Given the description of an element on the screen output the (x, y) to click on. 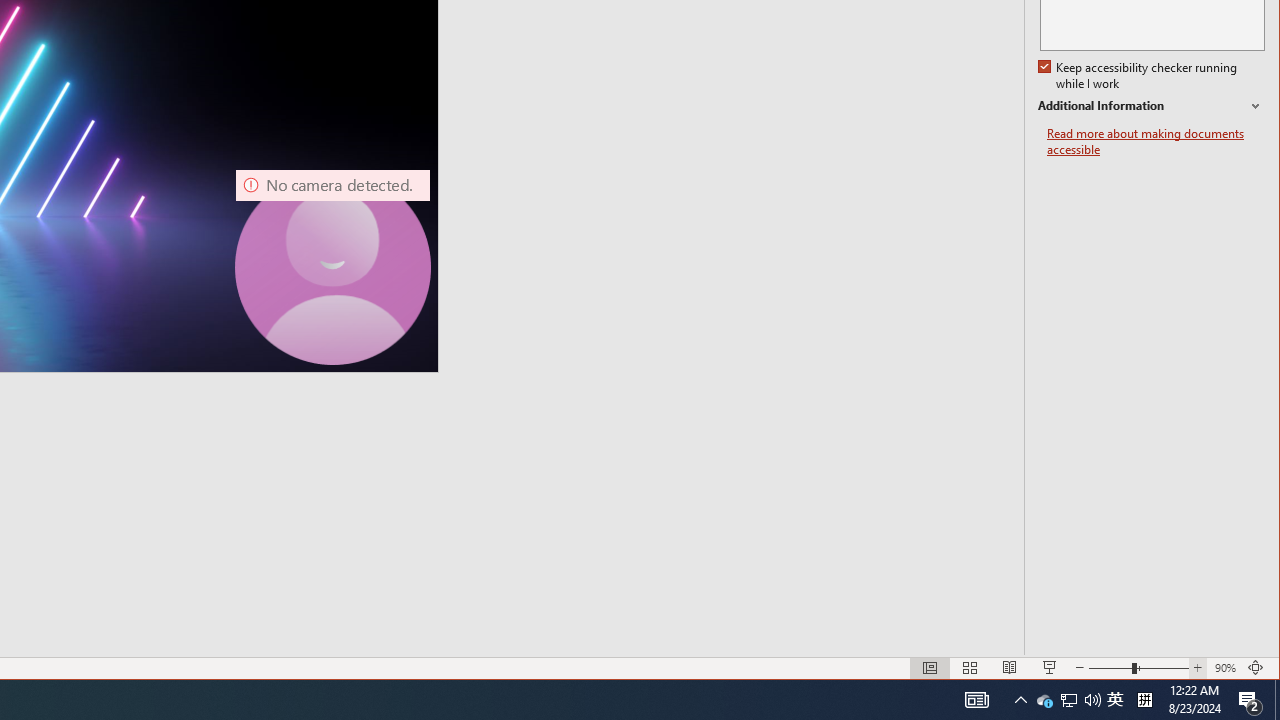
Zoom 90% (1225, 668)
Camera 7, No camera detected. (333, 267)
